Given the description of an element on the screen output the (x, y) to click on. 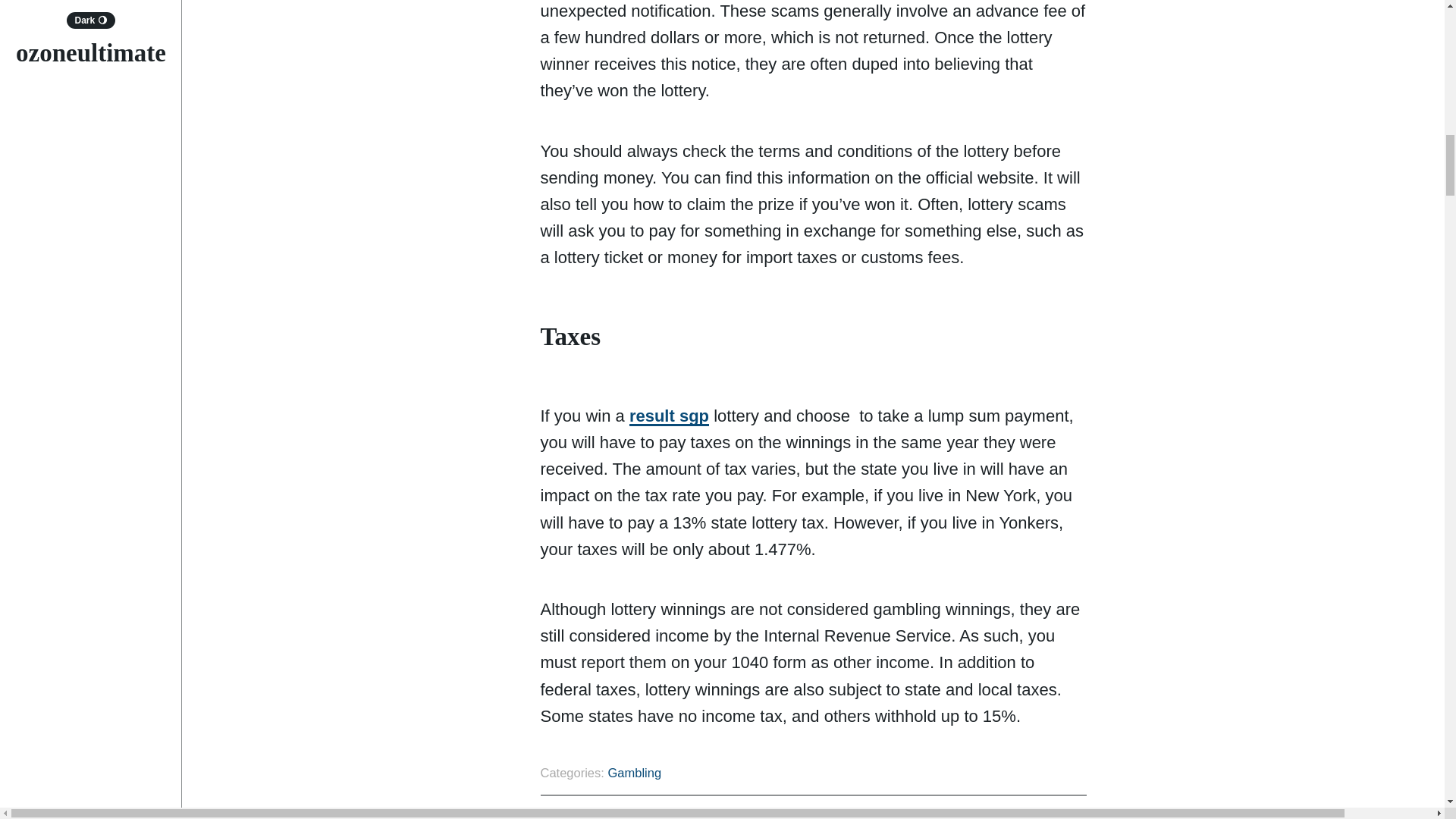
Gambling (634, 772)
result sgp (668, 415)
AdminMaxGacor77 (1014, 815)
